Given the description of an element on the screen output the (x, y) to click on. 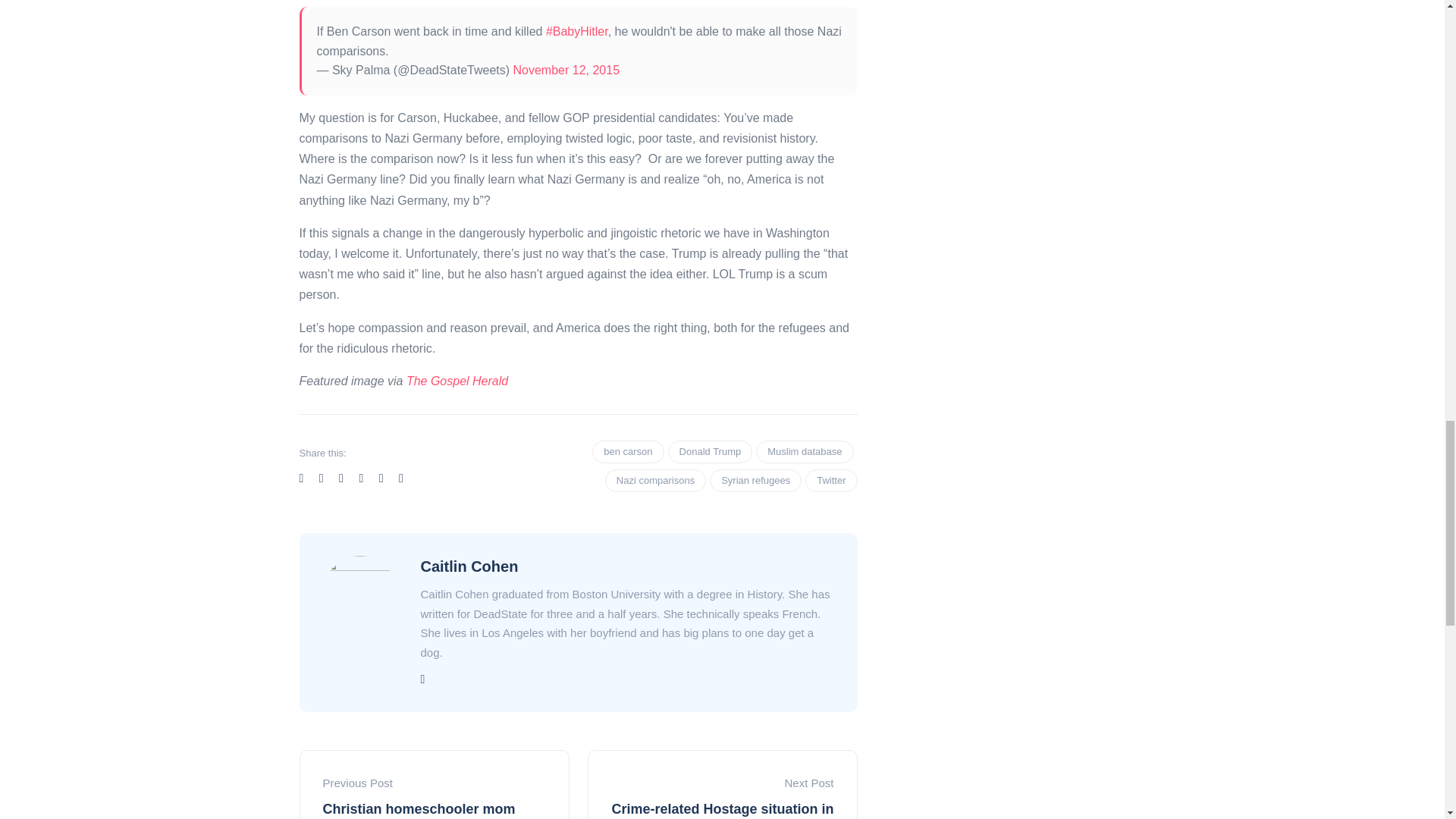
The Gospel Herald (457, 380)
Donald Trump (710, 451)
ben carson (627, 451)
November 12, 2015 (566, 69)
